Given the description of an element on the screen output the (x, y) to click on. 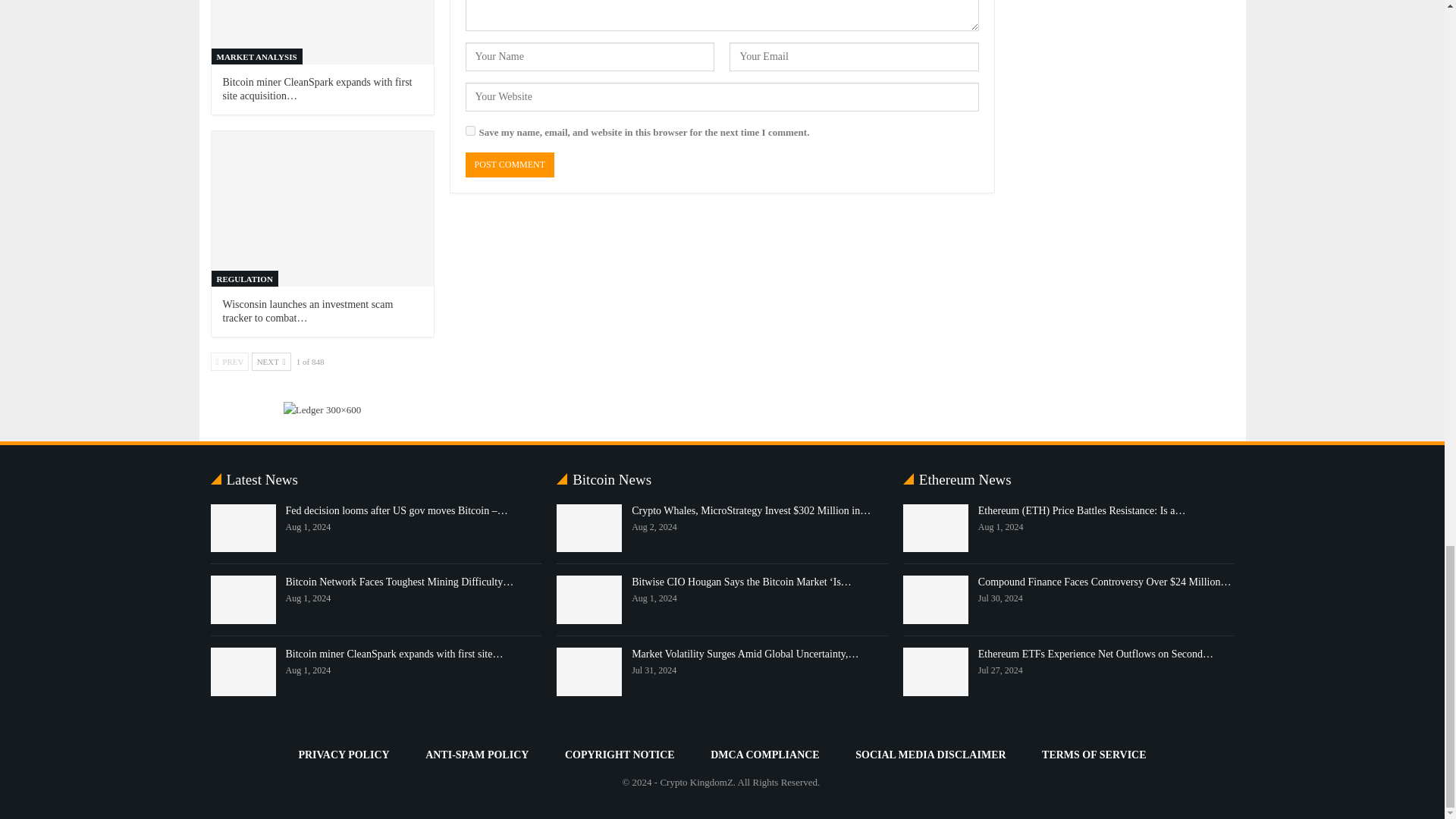
yes (470, 130)
Post Comment (509, 164)
